Given the description of an element on the screen output the (x, y) to click on. 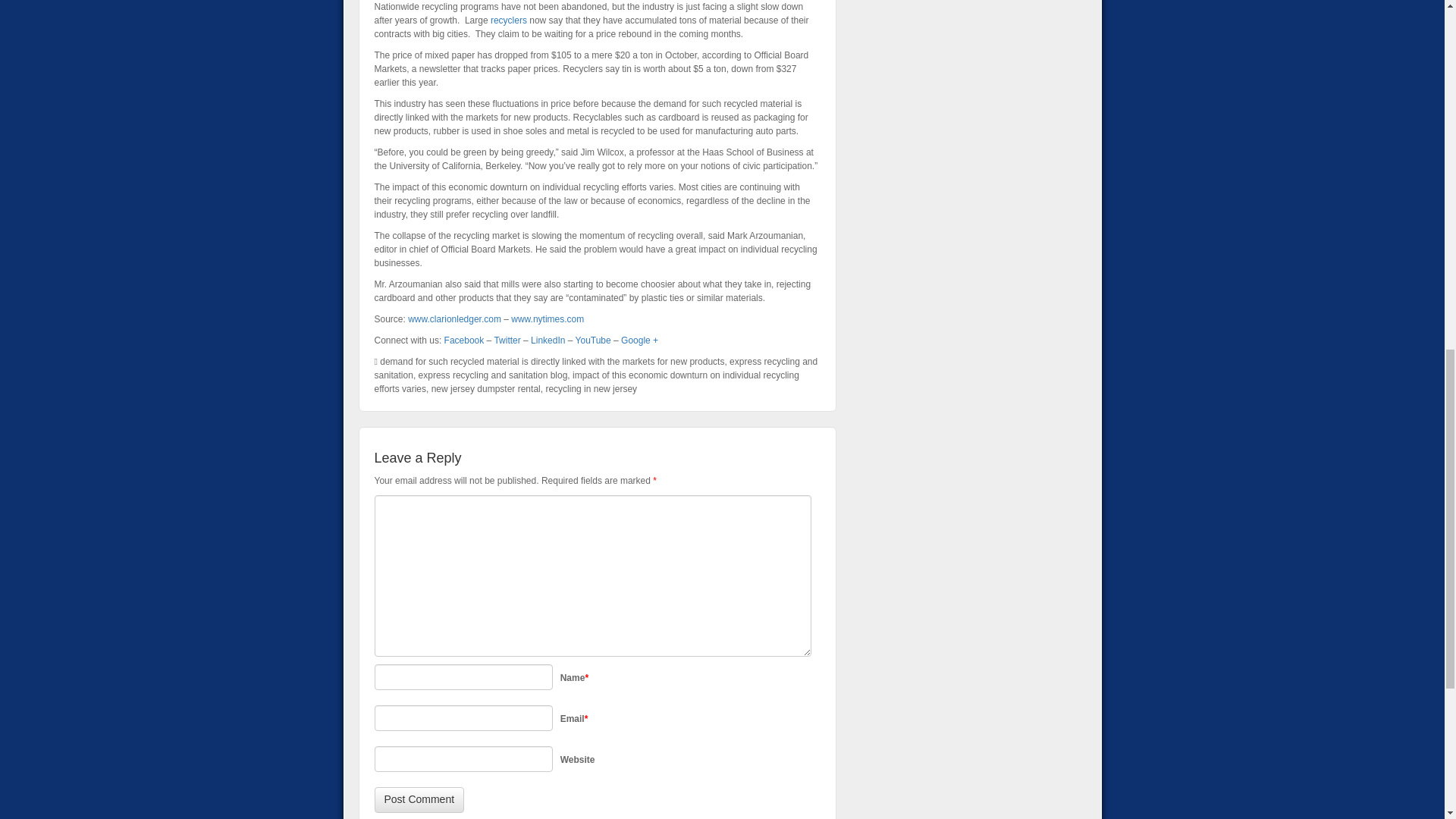
express recycling and sanitation blog (493, 375)
Facebook (464, 339)
www.clarionledger.com (453, 318)
recycling in new jersey (590, 388)
www.nytimes.com (547, 318)
new jersey dumpster rental (485, 388)
Post Comment (419, 800)
express recycling and sanitation (596, 368)
YouTube (593, 339)
